Given the description of an element on the screen output the (x, y) to click on. 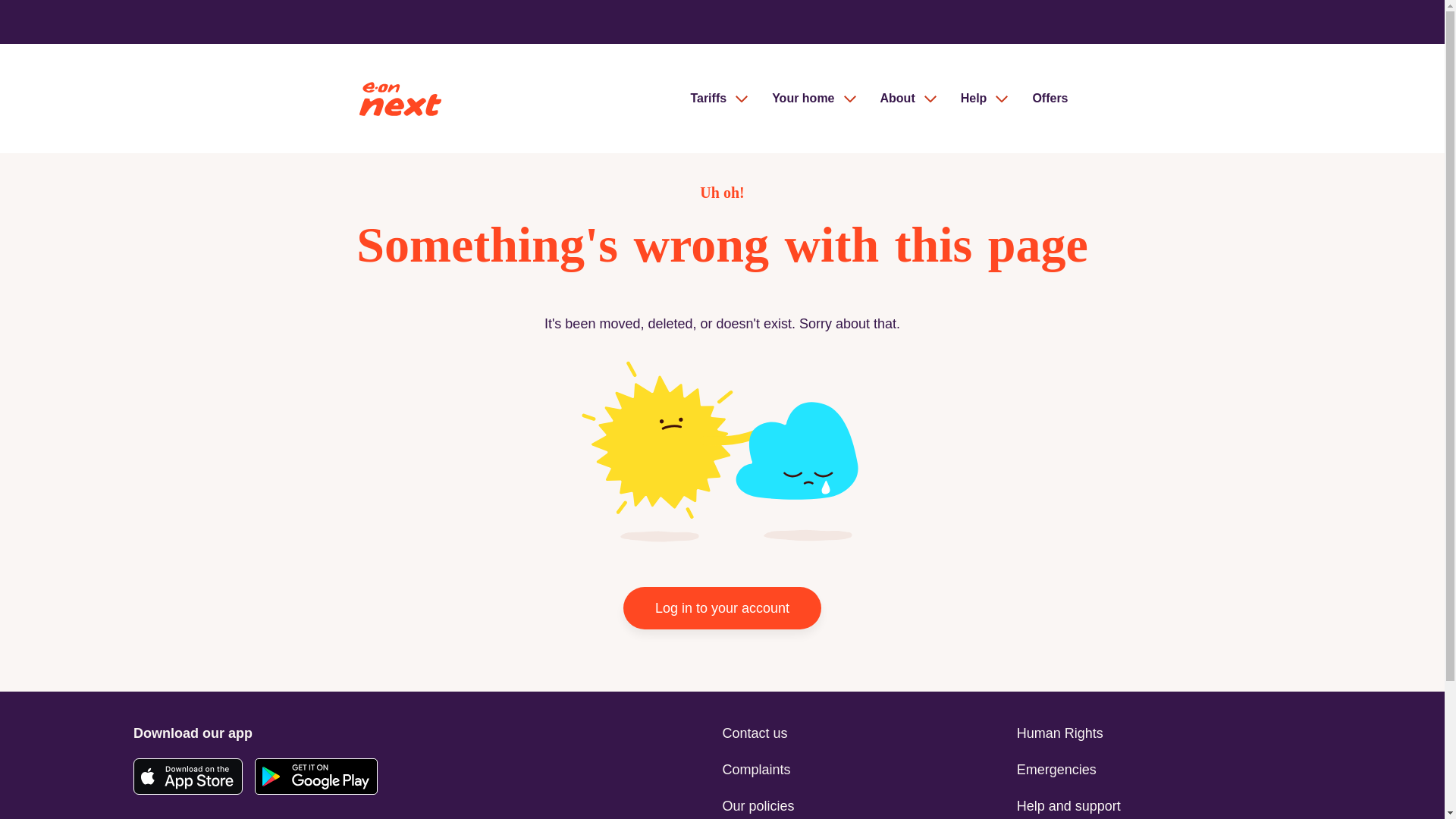
App Store (188, 777)
Log in to your account (722, 608)
Emergencies (1163, 770)
Human Rights (1163, 733)
Offers (1050, 98)
Google Play (315, 777)
Complaints (865, 770)
Our policies (865, 806)
Help and support (1163, 806)
Contact us (865, 733)
